Given the description of an element on the screen output the (x, y) to click on. 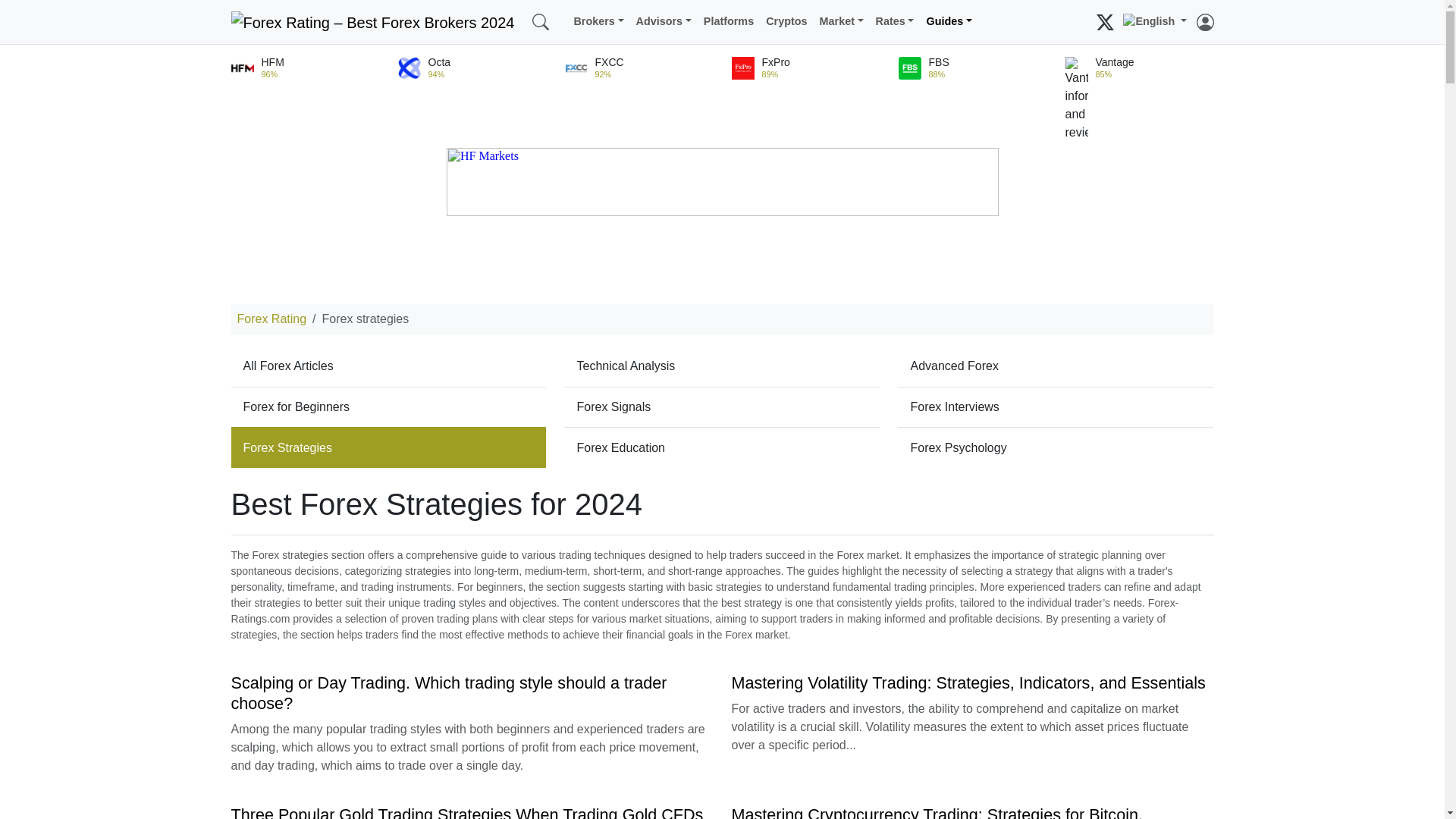
Cryptos (786, 21)
Platforms (728, 21)
Search (539, 21)
Search (560, 13)
